Given the description of an element on the screen output the (x, y) to click on. 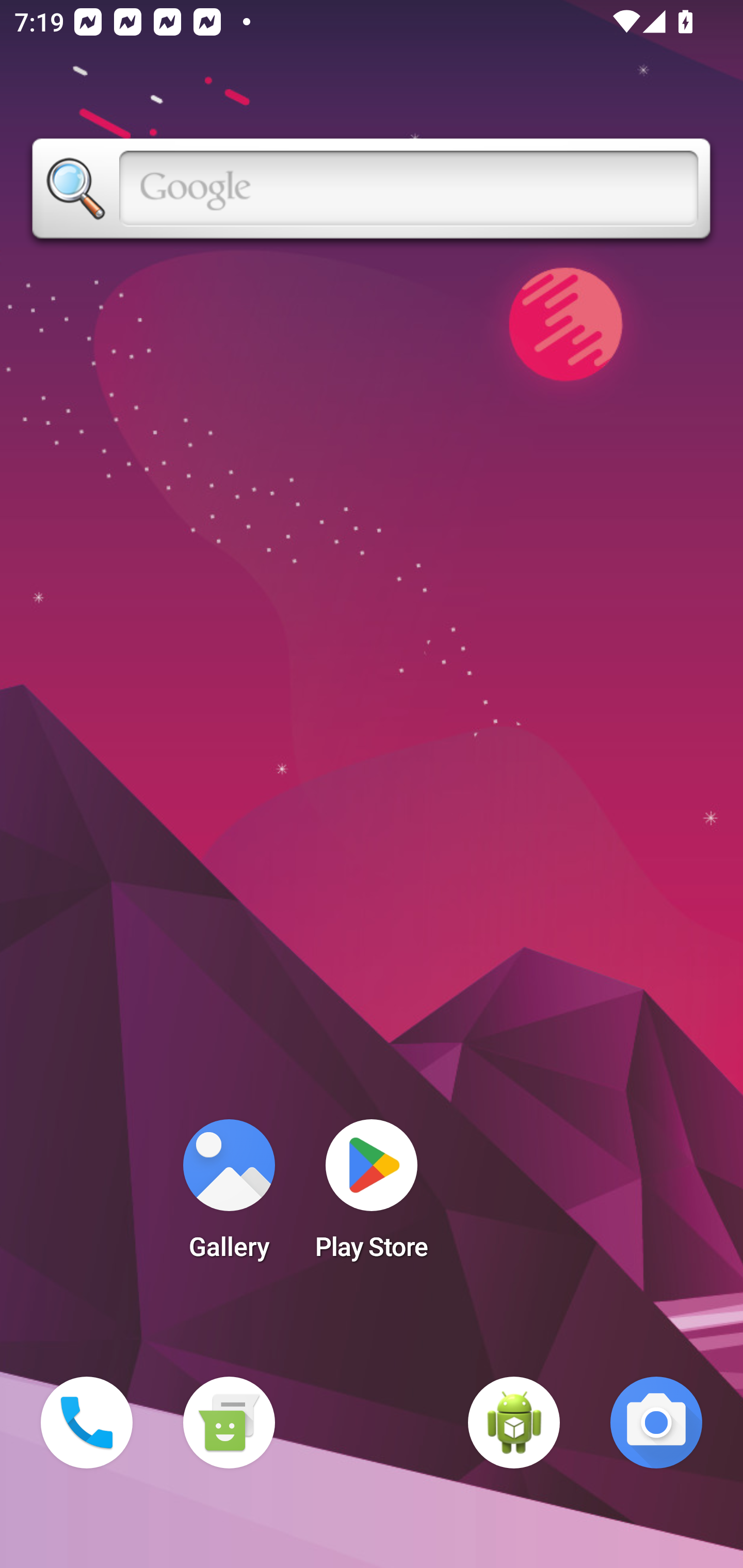
Gallery (228, 1195)
Play Store (371, 1195)
Phone (86, 1422)
Messaging (228, 1422)
WebView Browser Tester (513, 1422)
Camera (656, 1422)
